Given the description of an element on the screen output the (x, y) to click on. 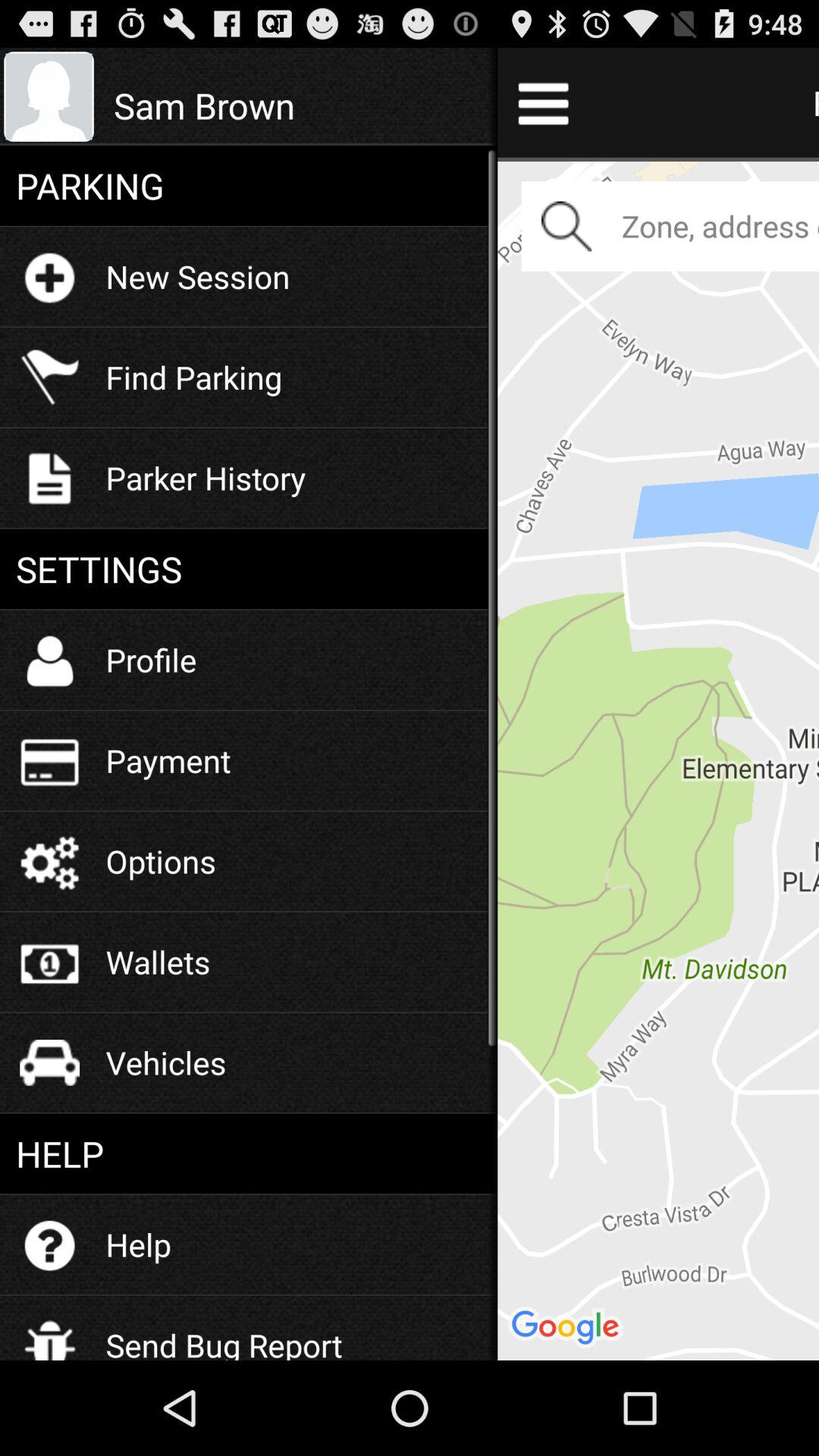
swipe until the parker history item (205, 477)
